Given the description of an element on the screen output the (x, y) to click on. 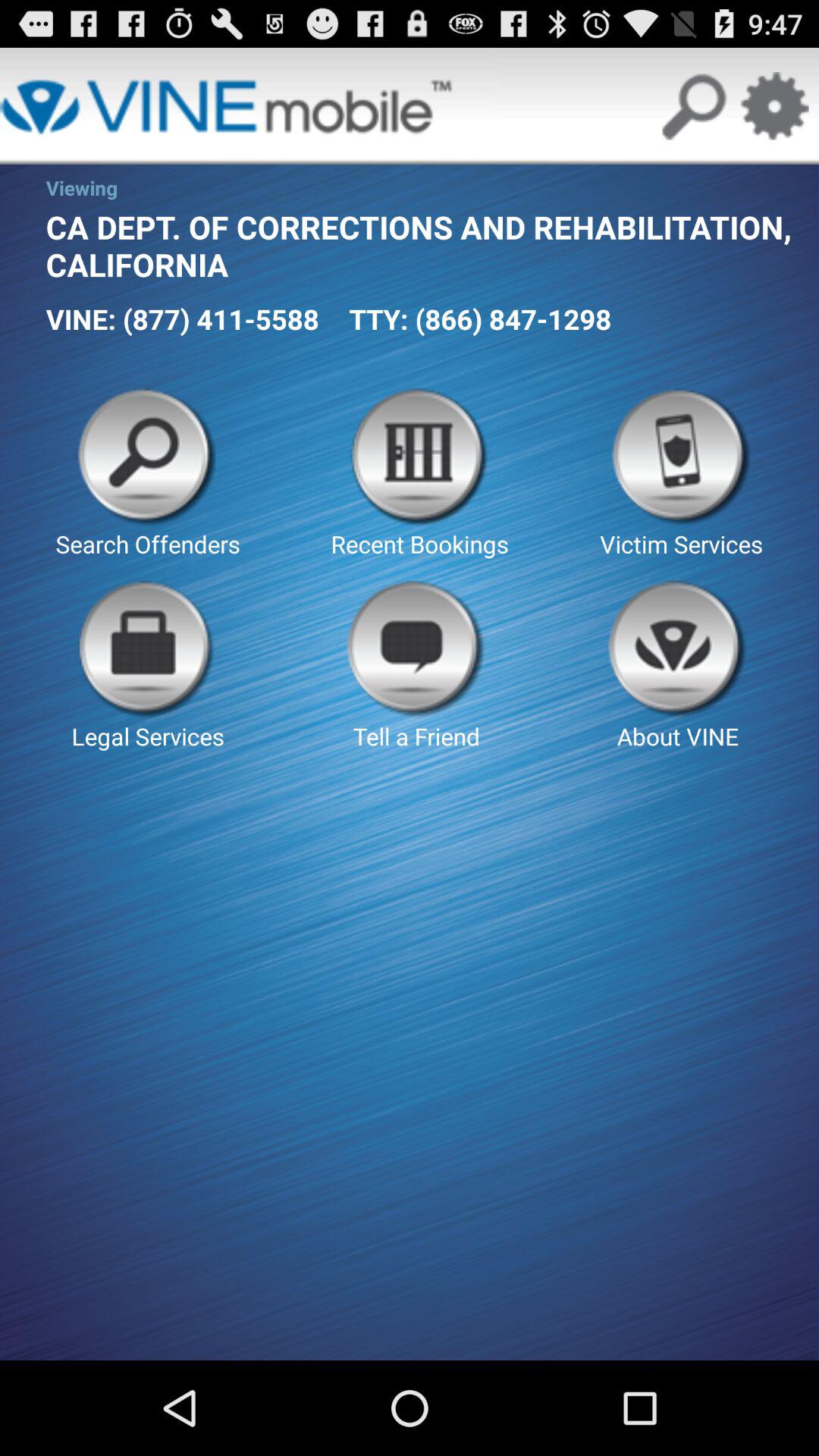
choose icon next to recent bookings (681, 474)
